Given the description of an element on the screen output the (x, y) to click on. 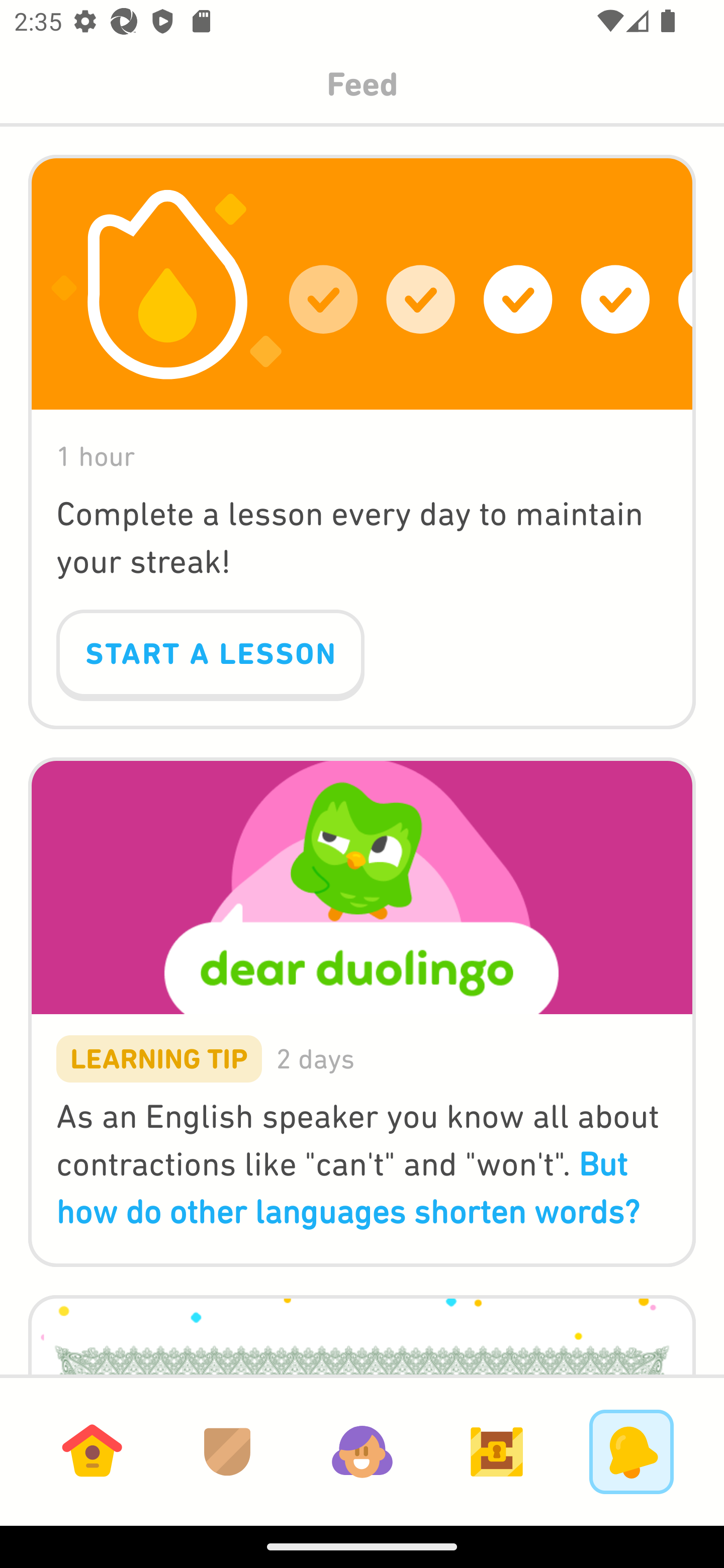
START A LESSON (210, 654)
Learn Tab (91, 1451)
Leagues Tab (227, 1451)
Profile Tab (361, 1451)
Goals Tab (496, 1451)
News Tab (631, 1451)
